Given the description of an element on the screen output the (x, y) to click on. 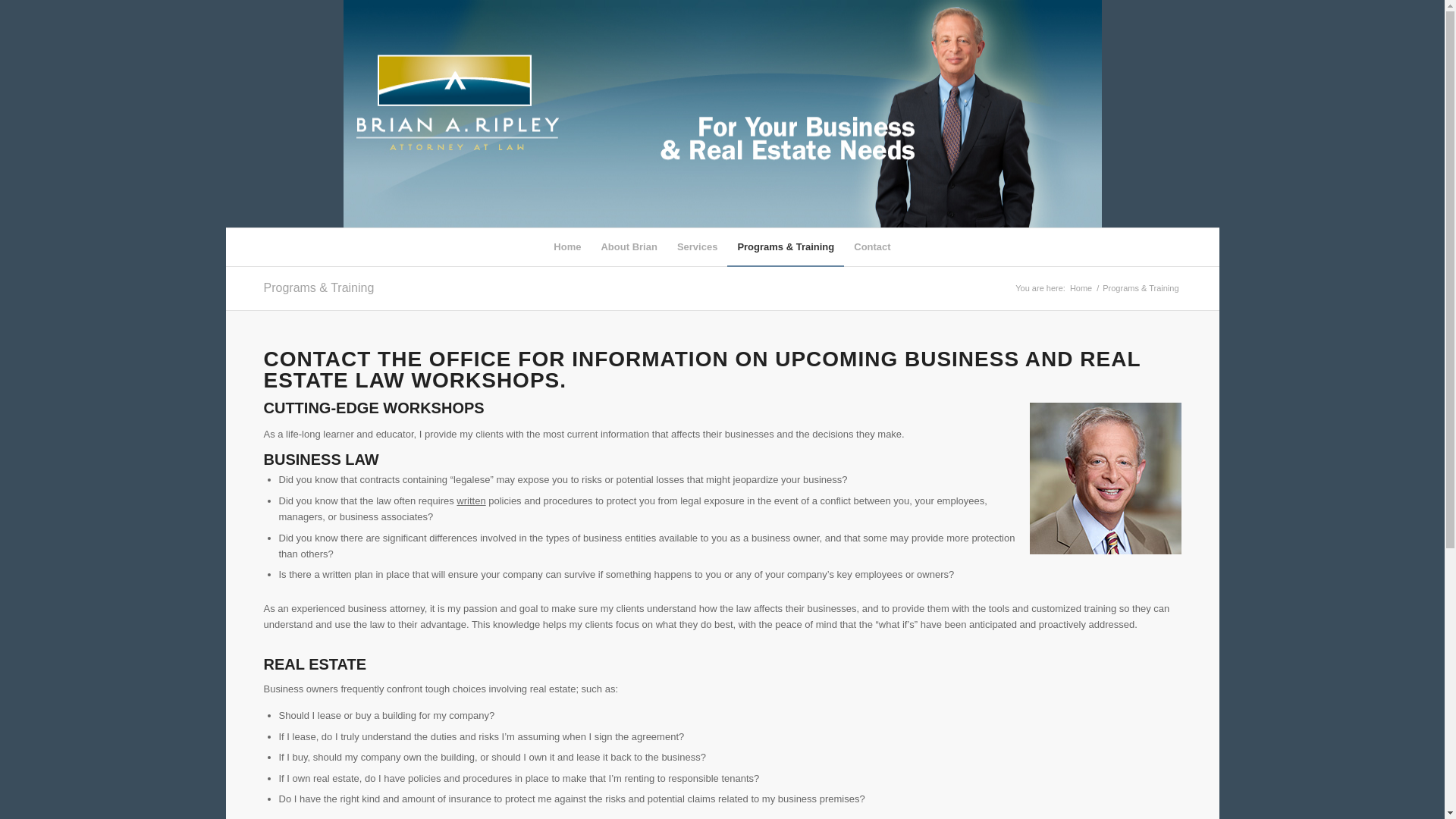
Contact (871, 247)
Services (697, 247)
Home (567, 247)
About Brian (628, 247)
